Given the description of an element on the screen output the (x, y) to click on. 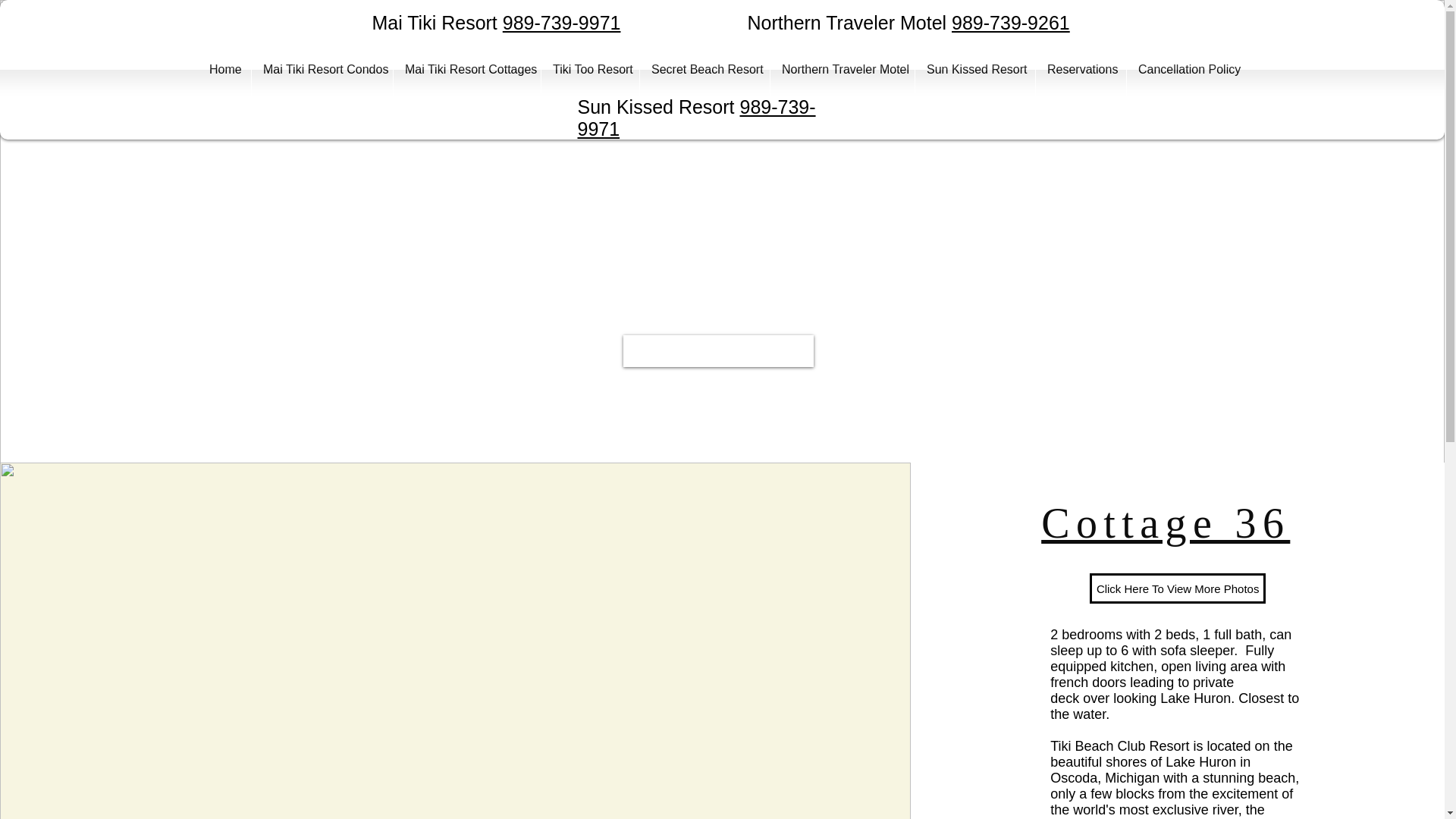
Northern Traveler Motel (842, 69)
Secret Beach Resort (705, 69)
Mai Tiki Resort Cottages (466, 69)
Mai Tiki Resort Condos (322, 69)
